Given the description of an element on the screen output the (x, y) to click on. 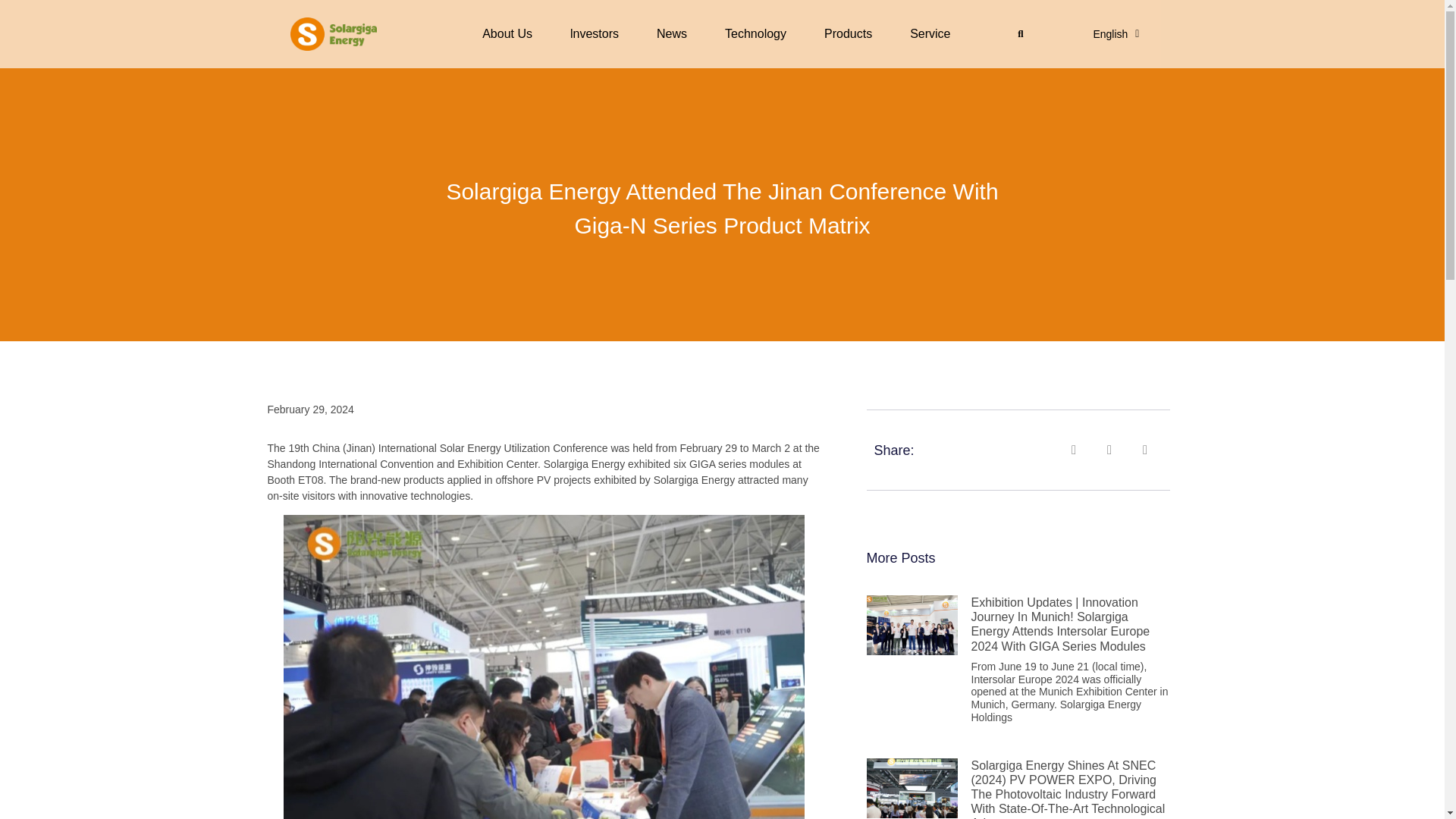
lnvestors (598, 33)
Service (933, 33)
Technology (759, 33)
About Us (510, 33)
News (676, 33)
Products (852, 33)
